Given the description of an element on the screen output the (x, y) to click on. 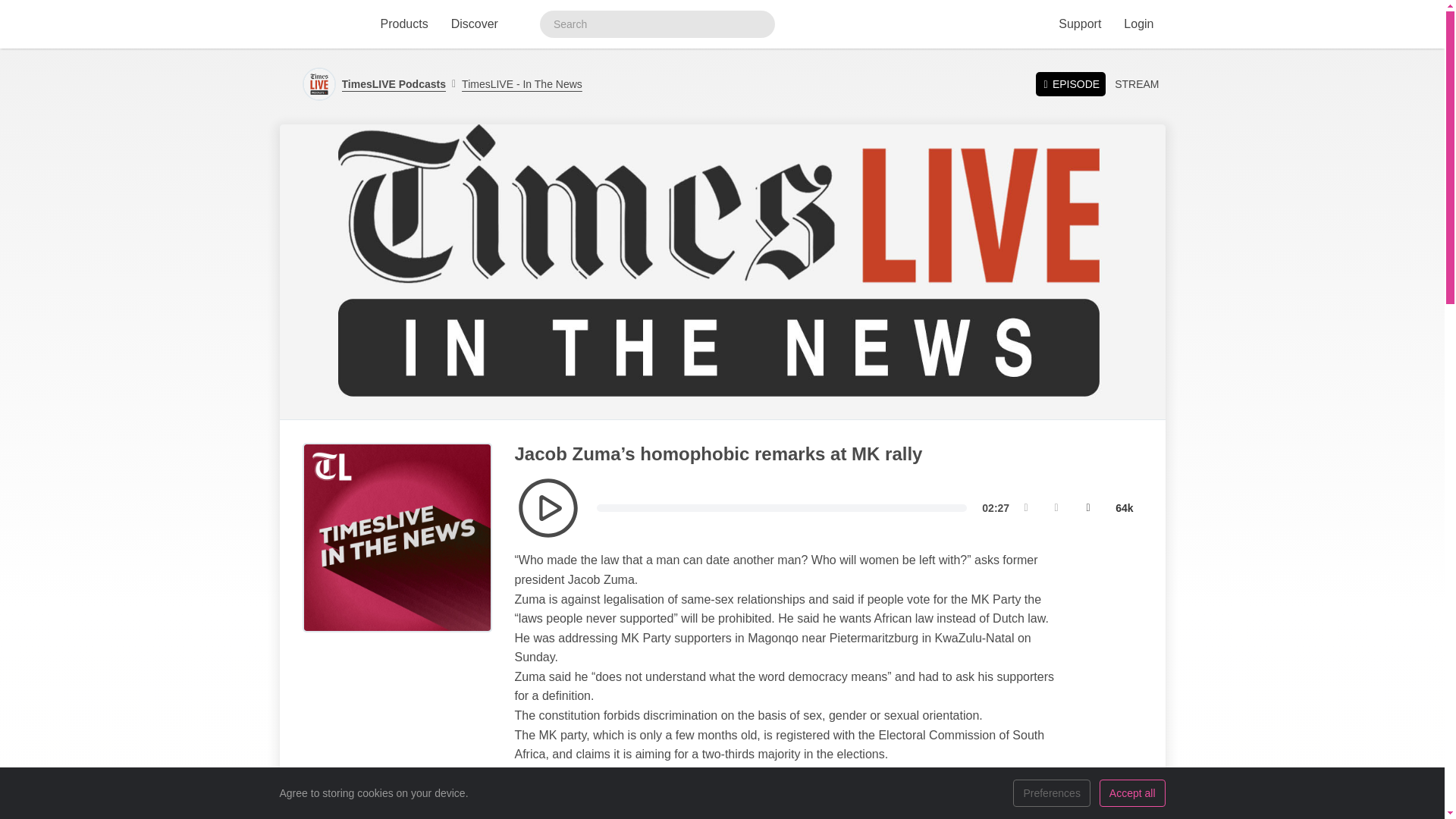
Search (758, 23)
TimesLIVE - In The News (516, 84)
Products (403, 24)
Discover (474, 24)
STREAM (1136, 84)
Login (1138, 24)
Skip forward (1056, 507)
Change volume (1088, 507)
Toggle playback (547, 507)
Support (1079, 24)
TimesLIVE Podcasts (392, 84)
Visit iono.fm homepage (316, 24)
Change quality (1123, 507)
Skip backward (1025, 507)
 EPISODE (1070, 83)
